Given the description of an element on the screen output the (x, y) to click on. 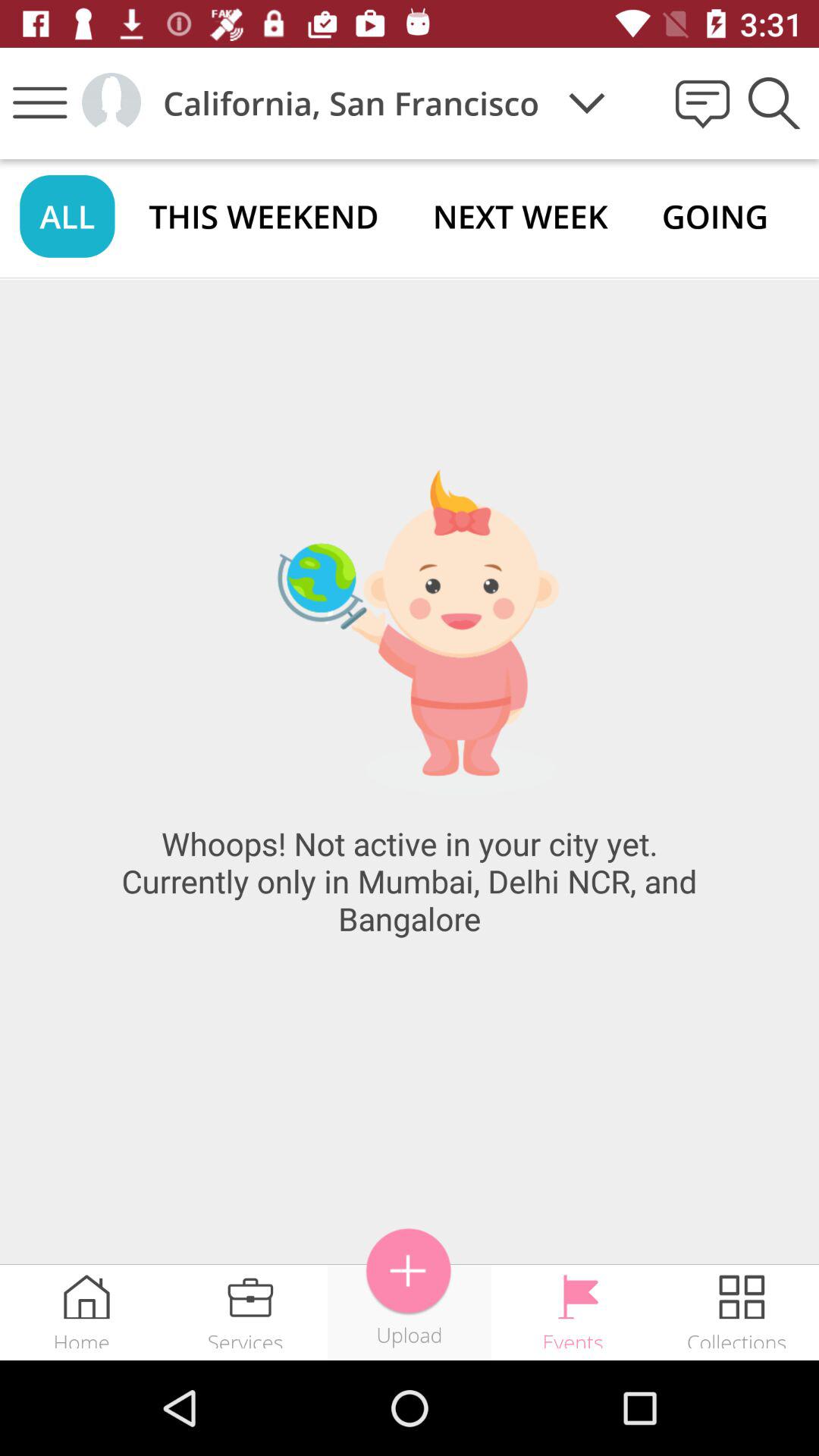
turn off item above upload icon (408, 1271)
